Given the description of an element on the screen output the (x, y) to click on. 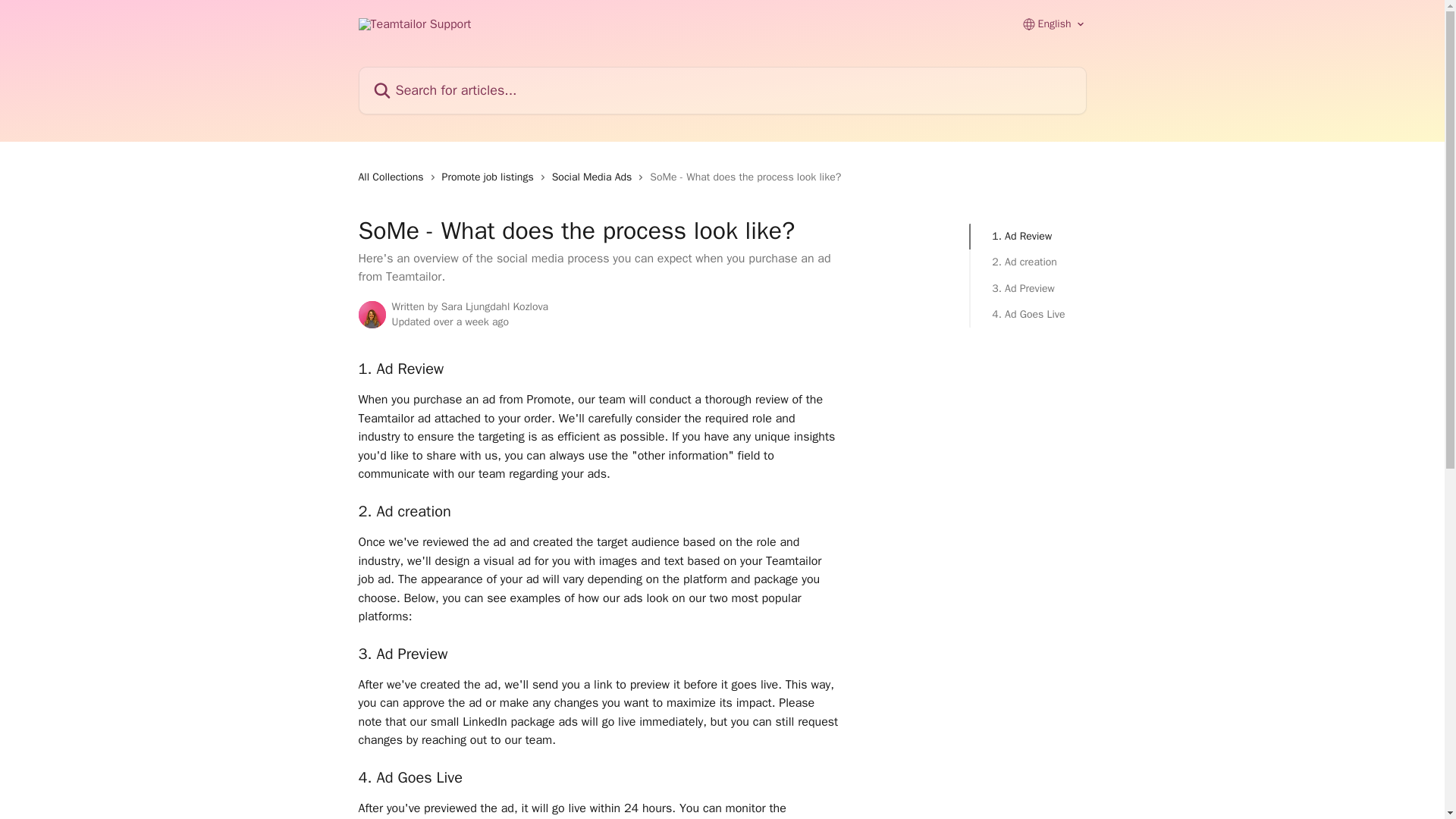
1. Ad Review (1027, 236)
Social Media Ads (595, 176)
All Collections (393, 176)
Promote job listings (491, 176)
4. Ad Goes Live (1027, 314)
3. Ad Preview (1027, 288)
2. Ad creation (1027, 262)
